Given the description of an element on the screen output the (x, y) to click on. 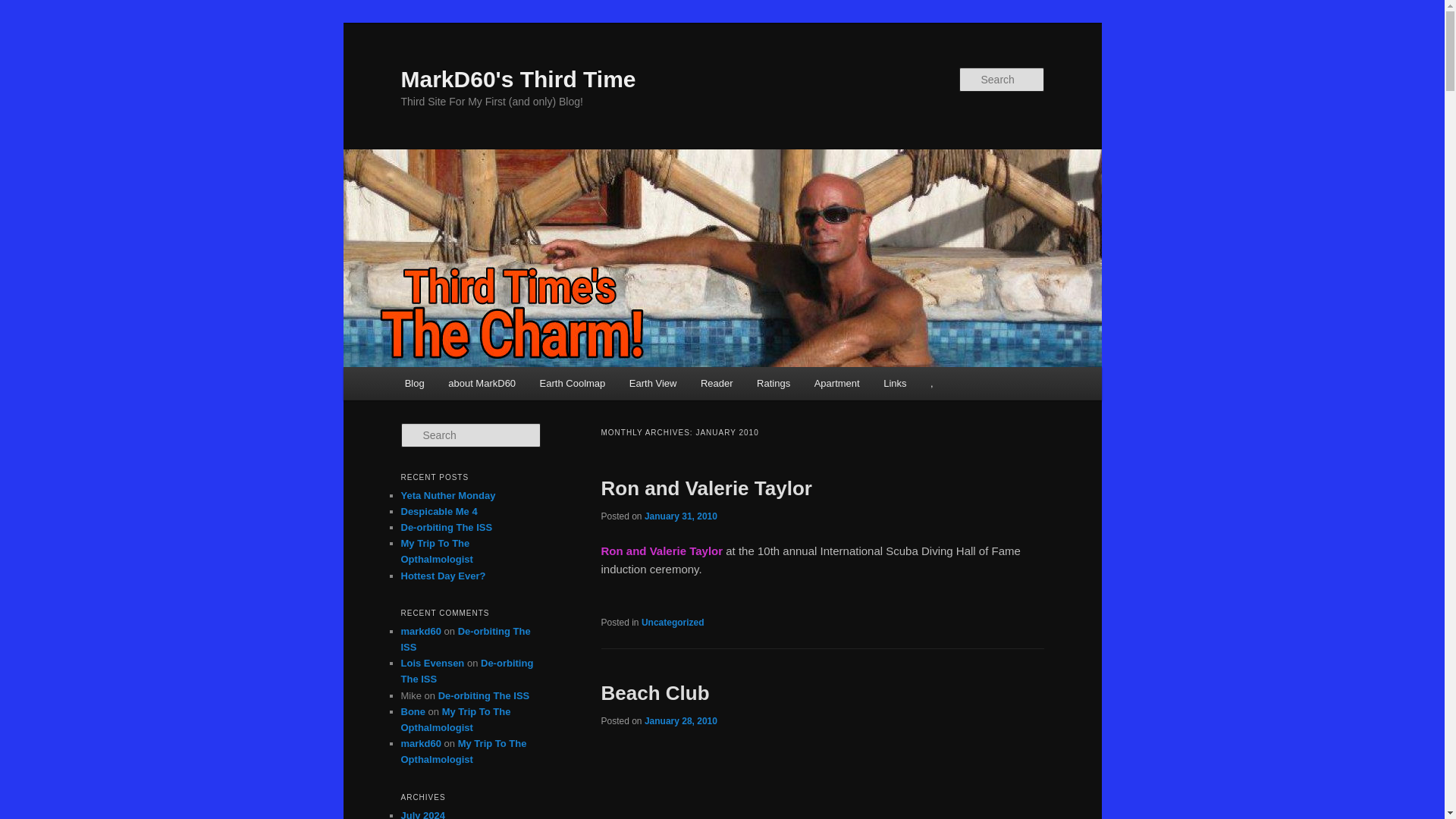
January 31, 2010 (681, 516)
Blog (414, 382)
Beach Club (654, 692)
3:42 pm (681, 516)
Links (894, 382)
Search (24, 8)
Apartment (836, 382)
about MarkD60 (481, 382)
Earth View (652, 382)
Uncategorized (673, 622)
Ron and Valerie Taylor (660, 550)
Ron and Valerie Taylor (704, 487)
11:17 am (681, 720)
Earth Coolmap (572, 382)
MarkD60's Third Time (517, 78)
